Given the description of an element on the screen output the (x, y) to click on. 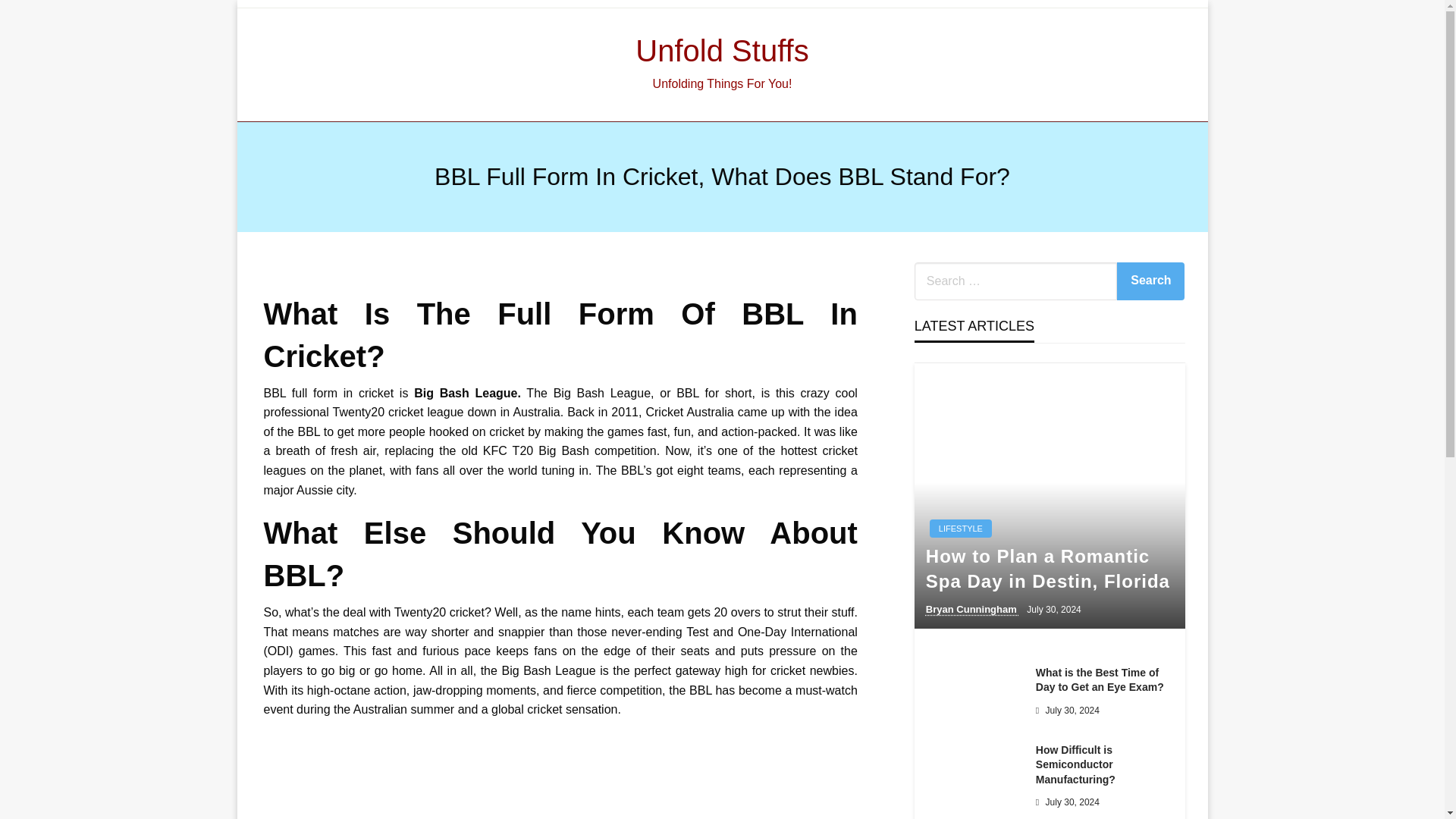
Search (1150, 281)
Unfold Stuffs (721, 50)
Search (1150, 281)
